Given the description of an element on the screen output the (x, y) to click on. 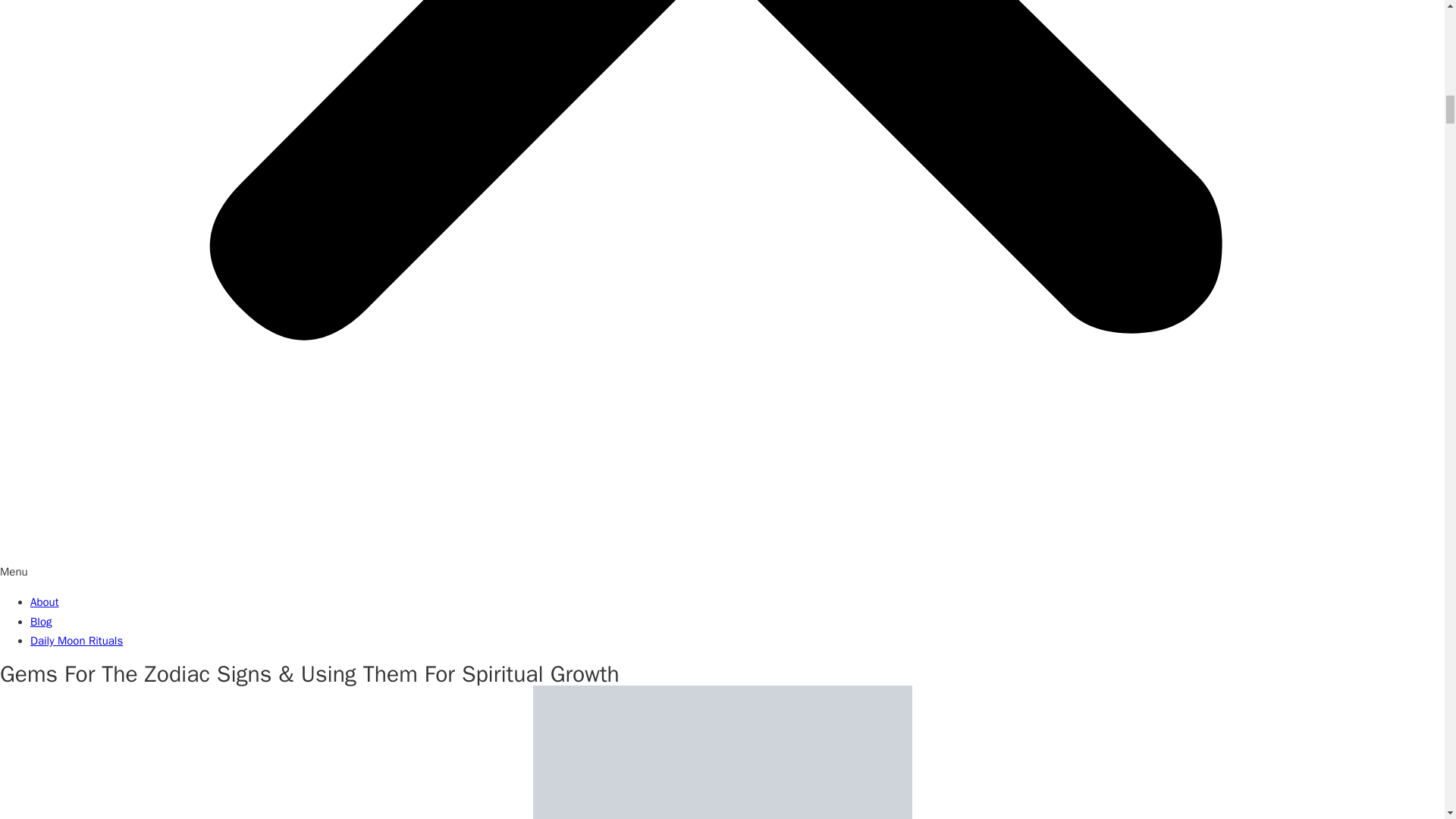
About (44, 602)
Blog (40, 621)
Daily Moon Rituals (76, 640)
